Given the description of an element on the screen output the (x, y) to click on. 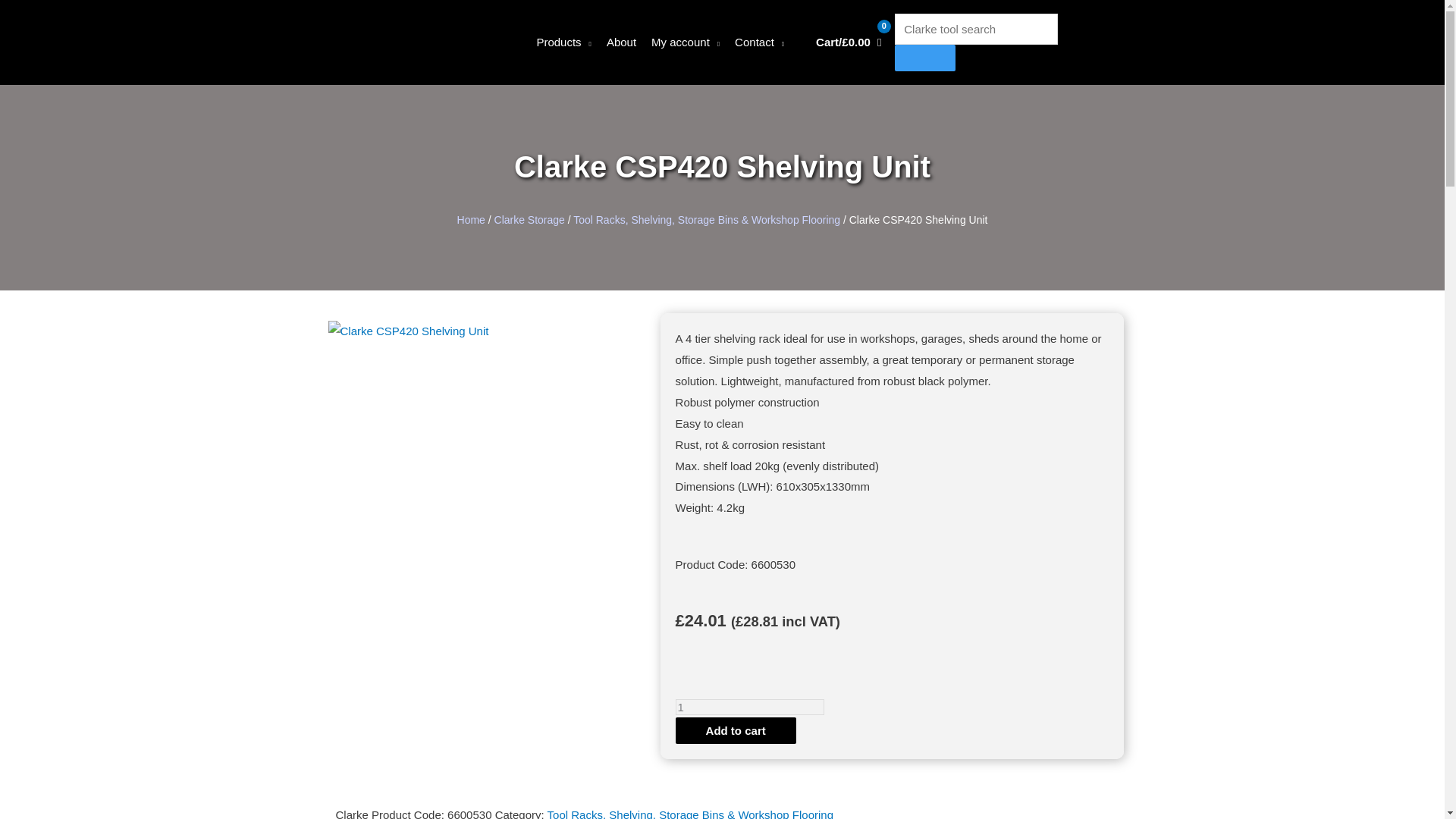
My account (684, 42)
1 (749, 706)
Clarke CSP420 Shelving Unit 1 (489, 483)
